Given the description of an element on the screen output the (x, y) to click on. 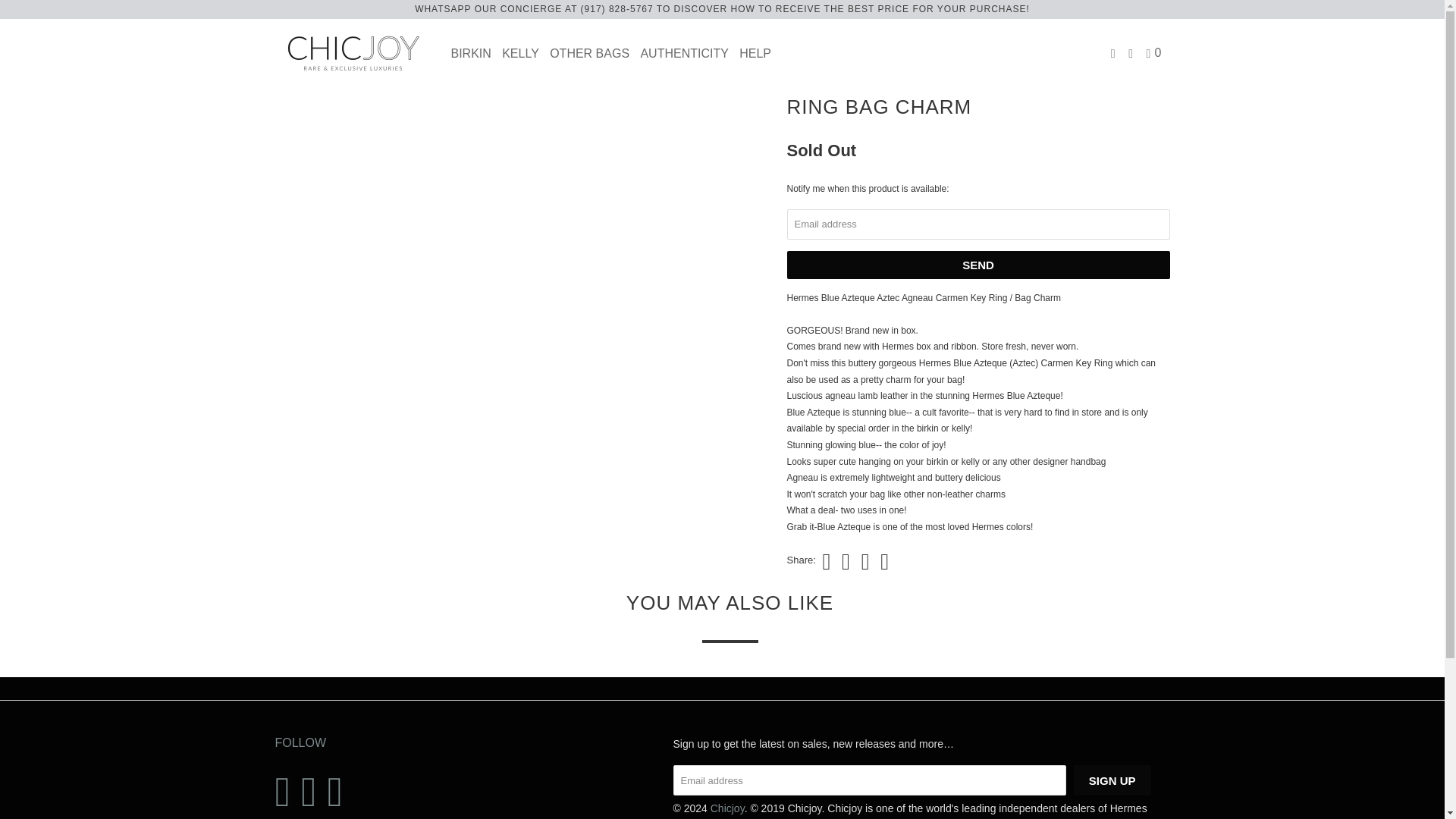
OTHER BAGS (589, 52)
BIRKIN (469, 52)
Send (978, 264)
Send (978, 264)
Chicjoy (352, 52)
HELP (755, 52)
AUTHENTICITY (683, 52)
Chicjoy (727, 808)
KELLY (520, 52)
Sign Up (1112, 779)
